Given the description of an element on the screen output the (x, y) to click on. 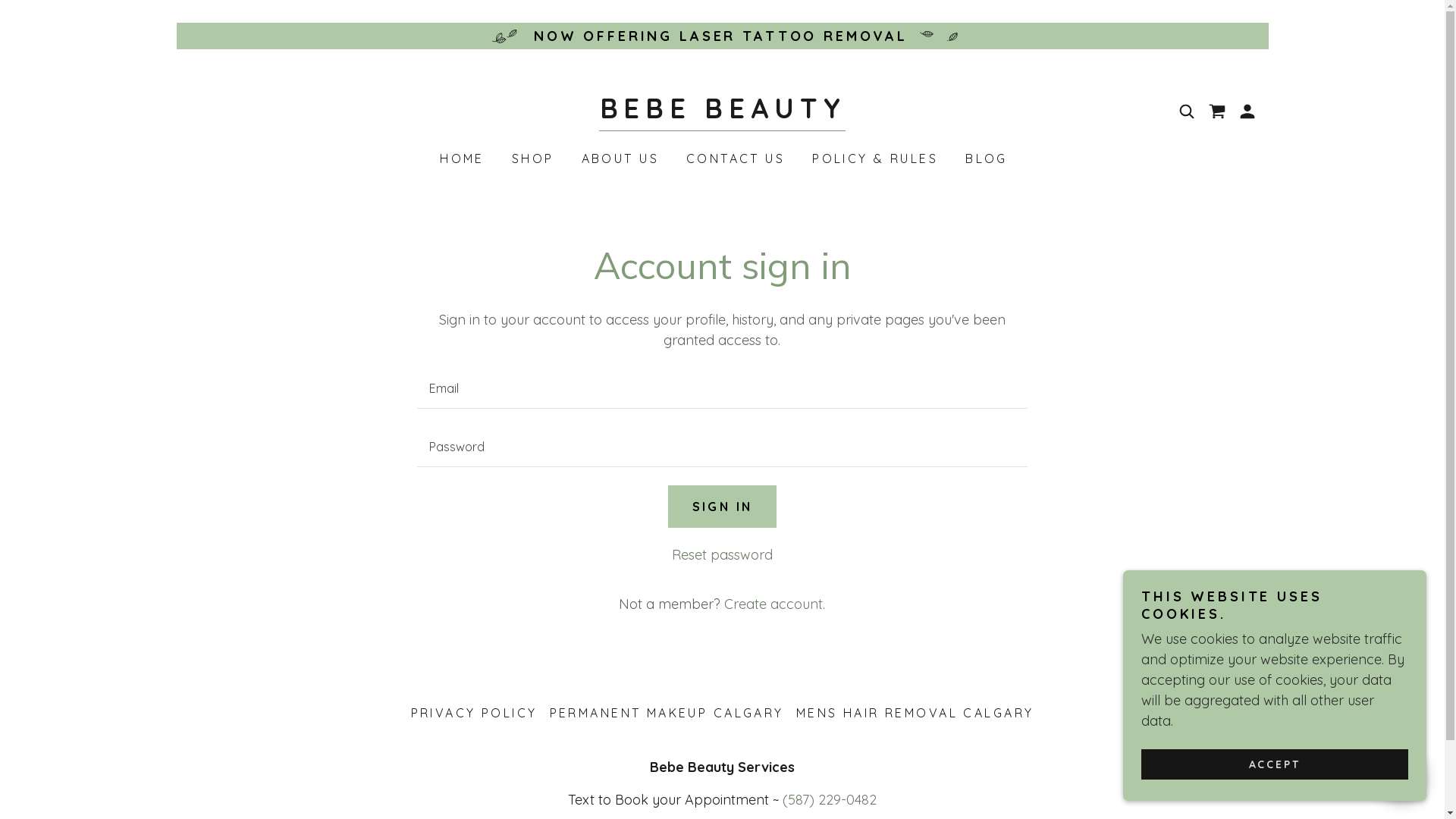
BLOG Element type: text (984, 158)
(587) 229-0482 Element type: text (829, 799)
Reset password Element type: text (721, 554)
POLICY & RULES Element type: text (873, 158)
CONTACT US Element type: text (733, 158)
Create account. Element type: text (774, 603)
PERMANENT MAKEUP CALGARY Element type: text (666, 712)
ACCEPT Element type: text (1274, 764)
PRIVACY POLICY Element type: text (473, 712)
MENS HAIR REMOVAL CALGARY Element type: text (915, 712)
HOME Element type: text (460, 158)
BEBE BEAUTY Element type: text (722, 113)
SHOP Element type: text (531, 158)
ABOUT US Element type: text (618, 158)
SIGN IN Element type: text (721, 506)
